Given the description of an element on the screen output the (x, y) to click on. 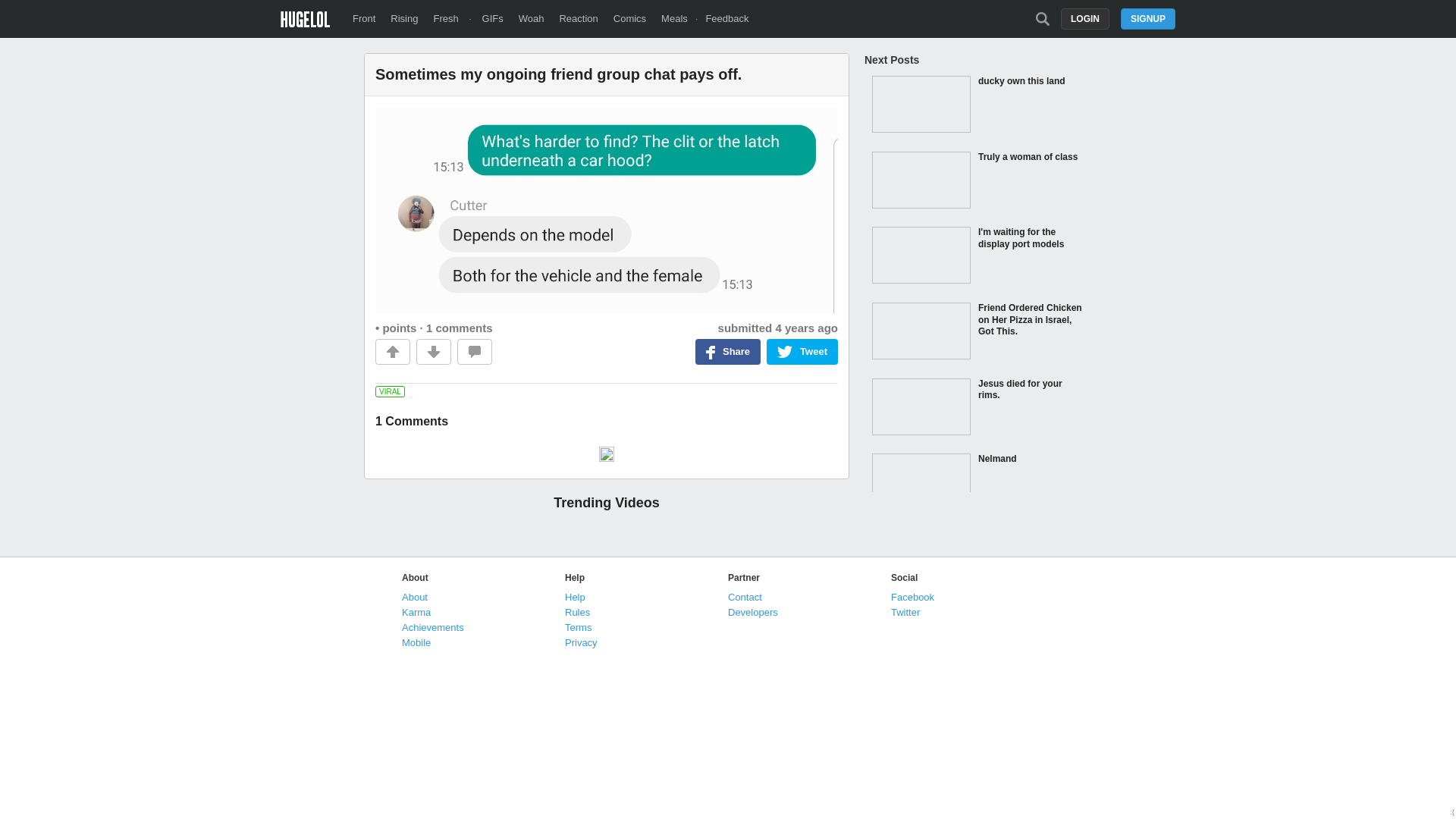
SIGNUP (1147, 18)
2020-01-25T16:53:11-05:00 (806, 327)
Meals (674, 18)
Rising (403, 18)
LOGIN (1085, 18)
Truly a woman of class (978, 182)
Nelmand (978, 483)
Front (363, 18)
Woah (531, 18)
Sometimes my ongoing friend group chat pays off. (606, 74)
I'm waiting for the display port models (978, 256)
Jesus died for your rims. (978, 408)
ducky own this land (978, 105)
Fresh (445, 18)
